Given the description of an element on the screen output the (x, y) to click on. 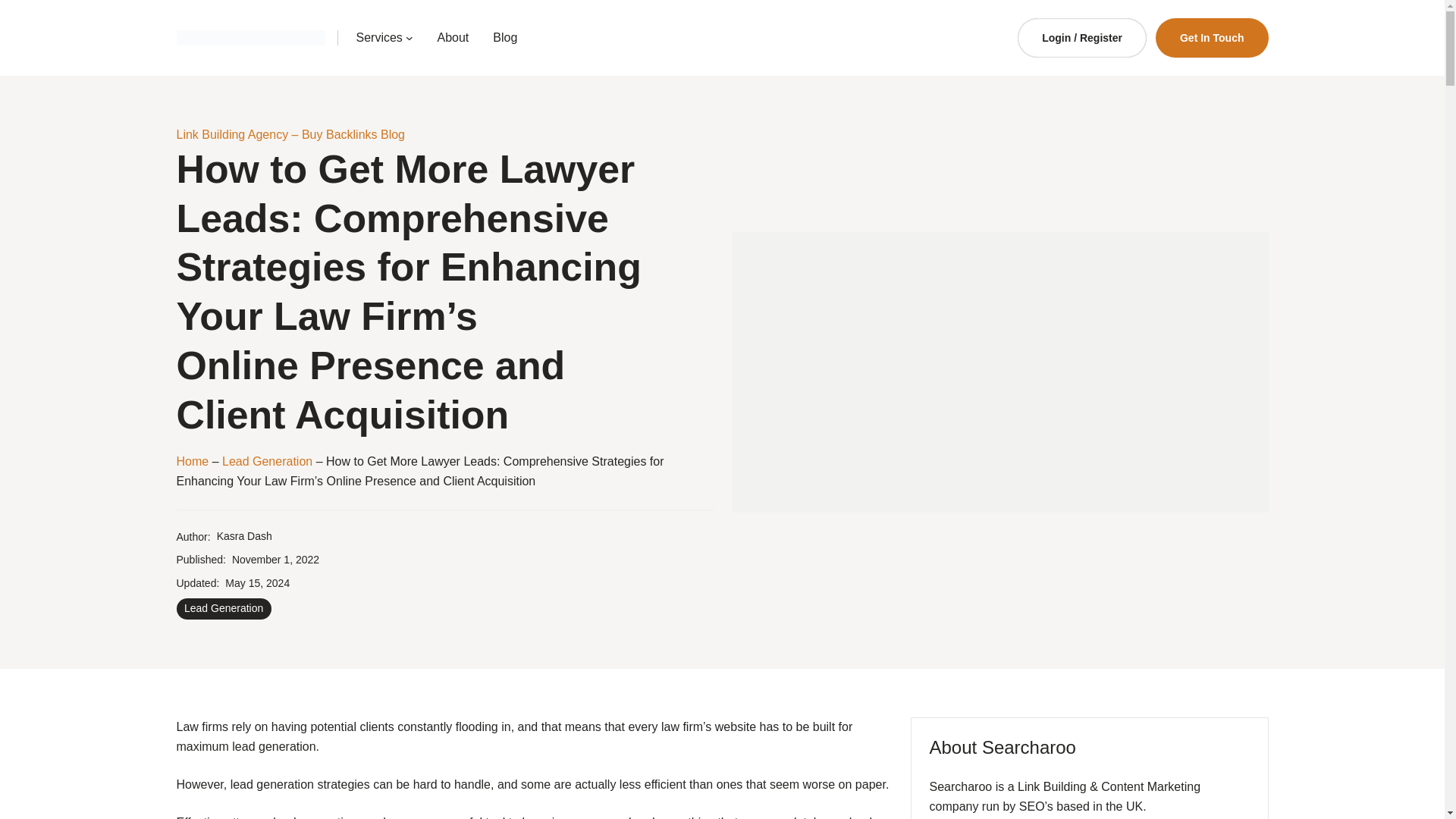
Blog (504, 37)
Home (192, 461)
About (452, 37)
Lead Generation (267, 461)
Get In Touch (1212, 37)
Lead Generation (223, 608)
Services (379, 37)
